Given the description of an element on the screen output the (x, y) to click on. 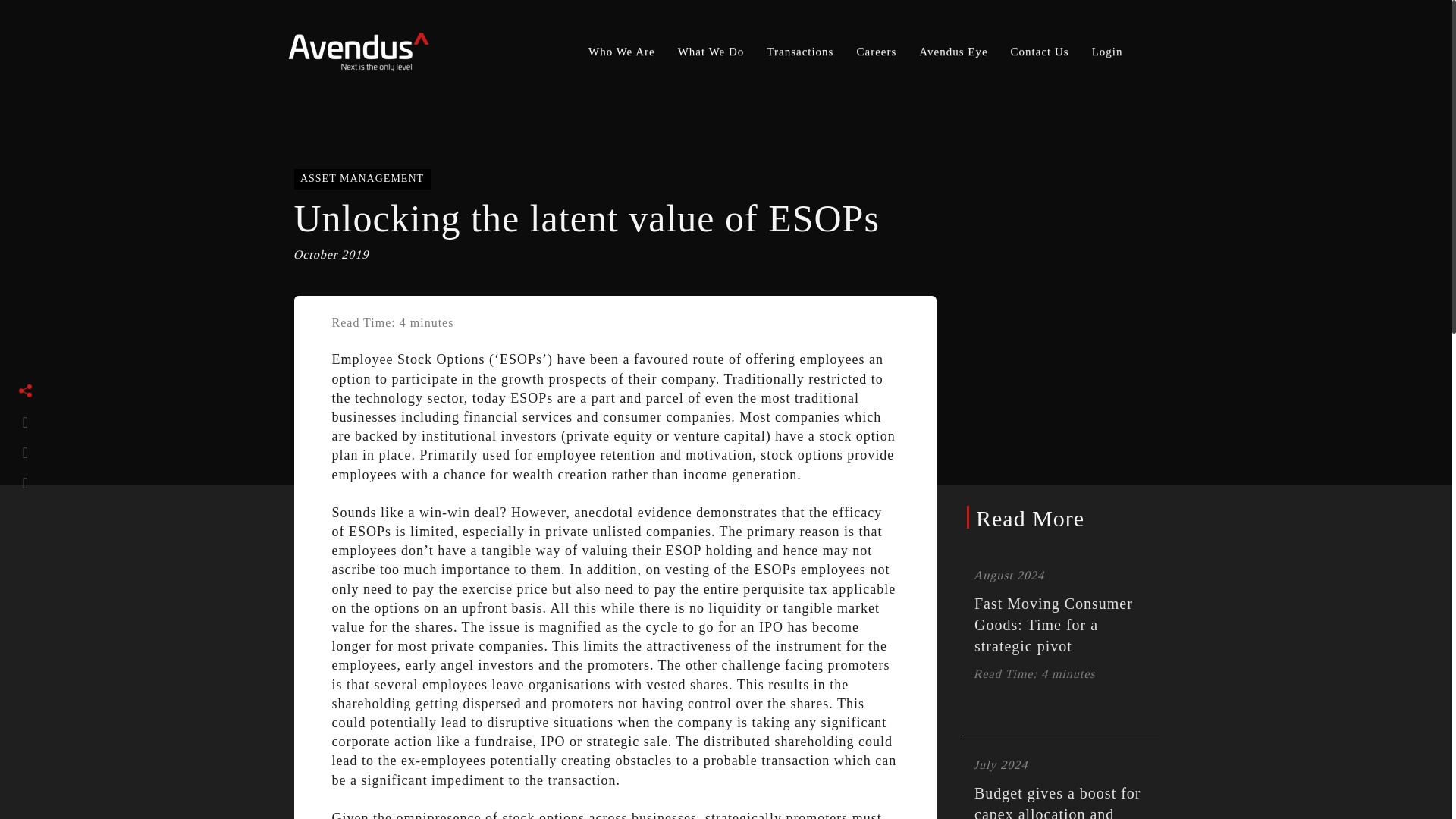
Login (1107, 51)
Who We Are (621, 51)
Avendus Eye (952, 51)
Contact Us (1039, 51)
Transactions (799, 51)
Careers (875, 51)
What We Do (710, 51)
